Given the description of an element on the screen output the (x, y) to click on. 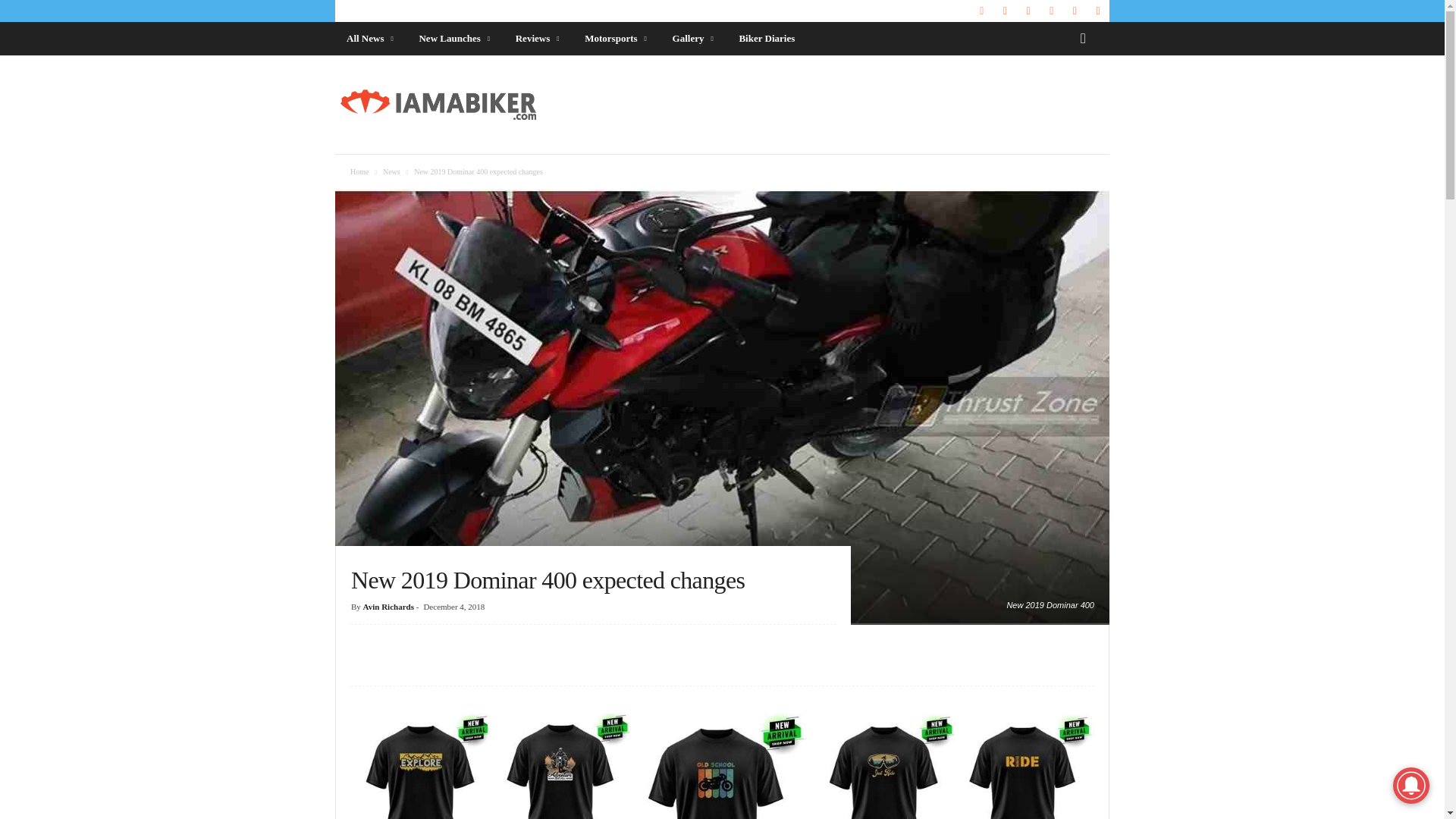
TERMS AND CONDITIONS (658, 10)
All News (370, 38)
KNOW THE TEAM (370, 10)
CONTACT US (441, 10)
